Given the description of an element on the screen output the (x, y) to click on. 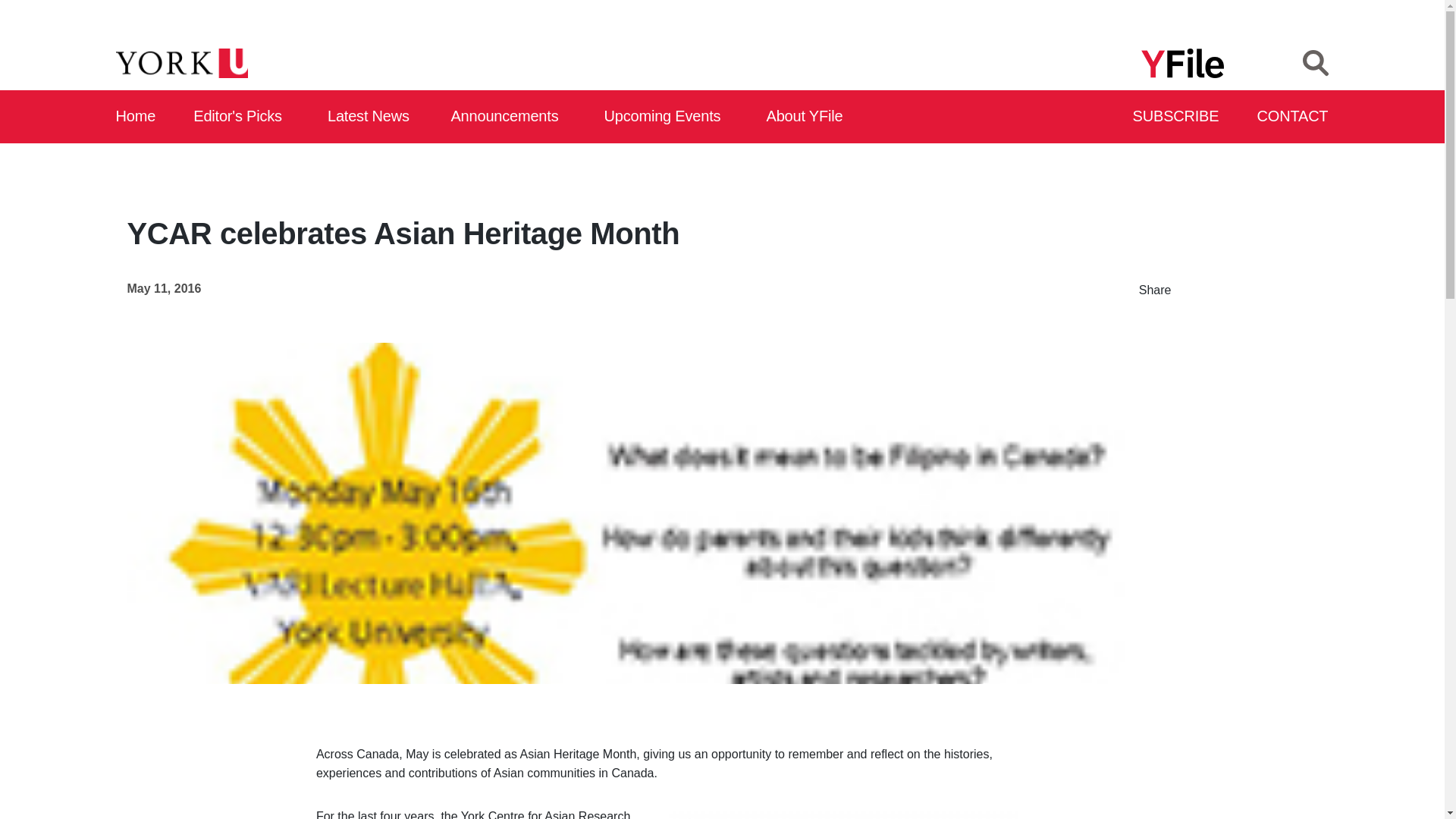
Contact (1293, 116)
Latest News (370, 116)
Editor's Picks (242, 116)
Upcoming Events (667, 116)
Subscribe (1176, 116)
Announcements (508, 116)
About YFile (806, 116)
About YFile (806, 116)
Home (136, 116)
Announcements (508, 116)
